Given the description of an element on the screen output the (x, y) to click on. 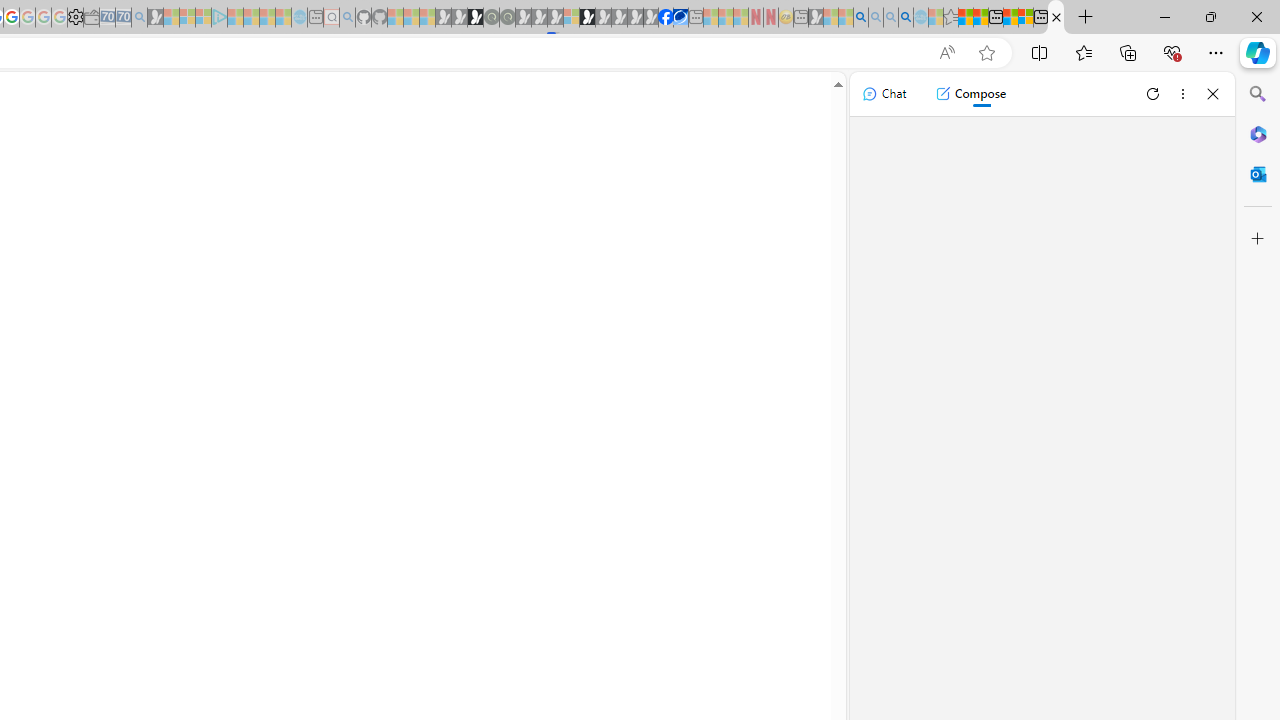
Sign in to your account - Sleeping (571, 17)
LinkedIn (1055, 17)
Chat (884, 93)
Cheap Car Rentals - Save70.com - Sleeping (123, 17)
github - Search - Sleeping (347, 17)
